Given the description of an element on the screen output the (x, y) to click on. 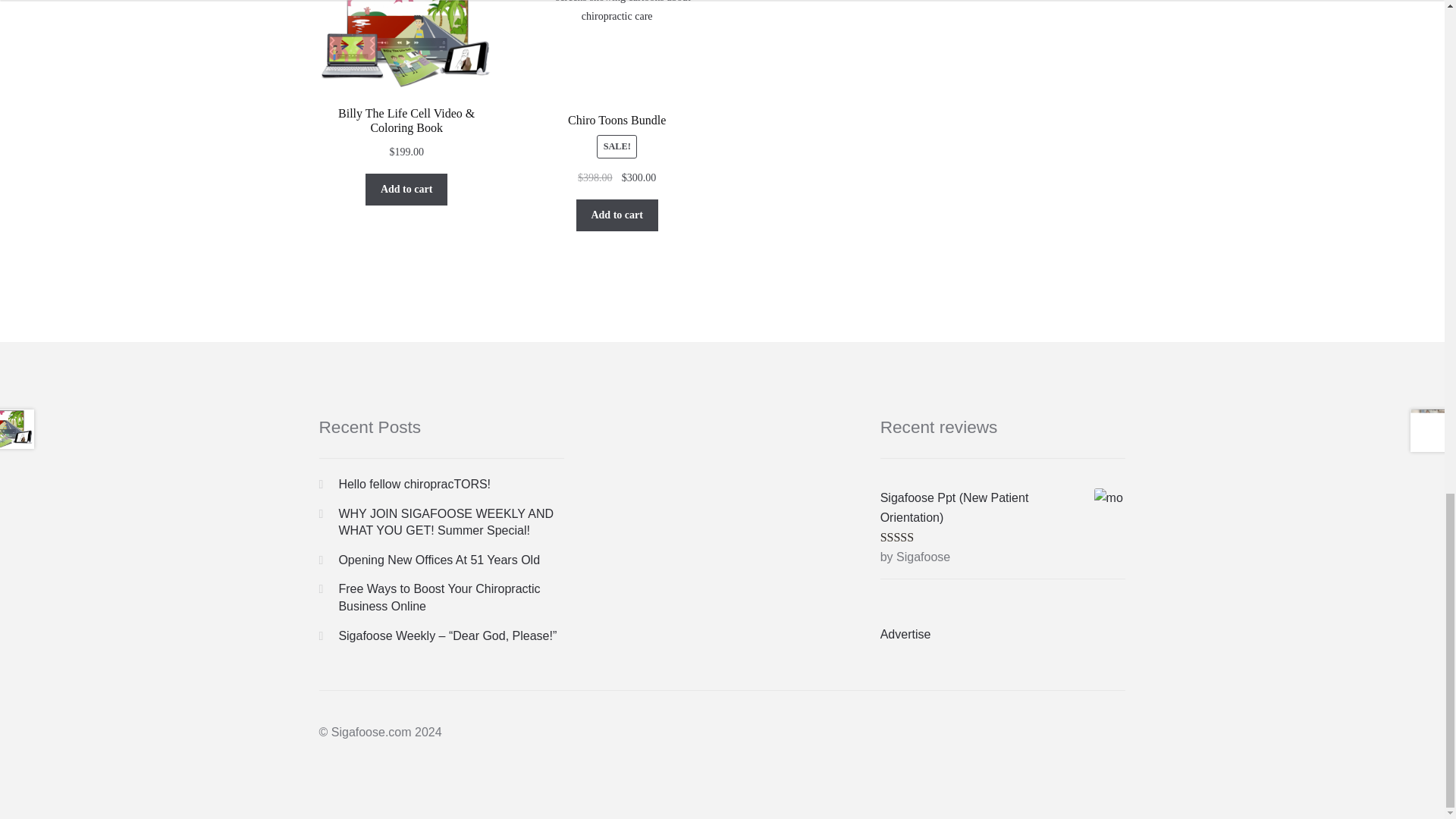
Add to cart (617, 214)
Add to cart (405, 189)
Come Advertise with Us (905, 634)
